Given the description of an element on the screen output the (x, y) to click on. 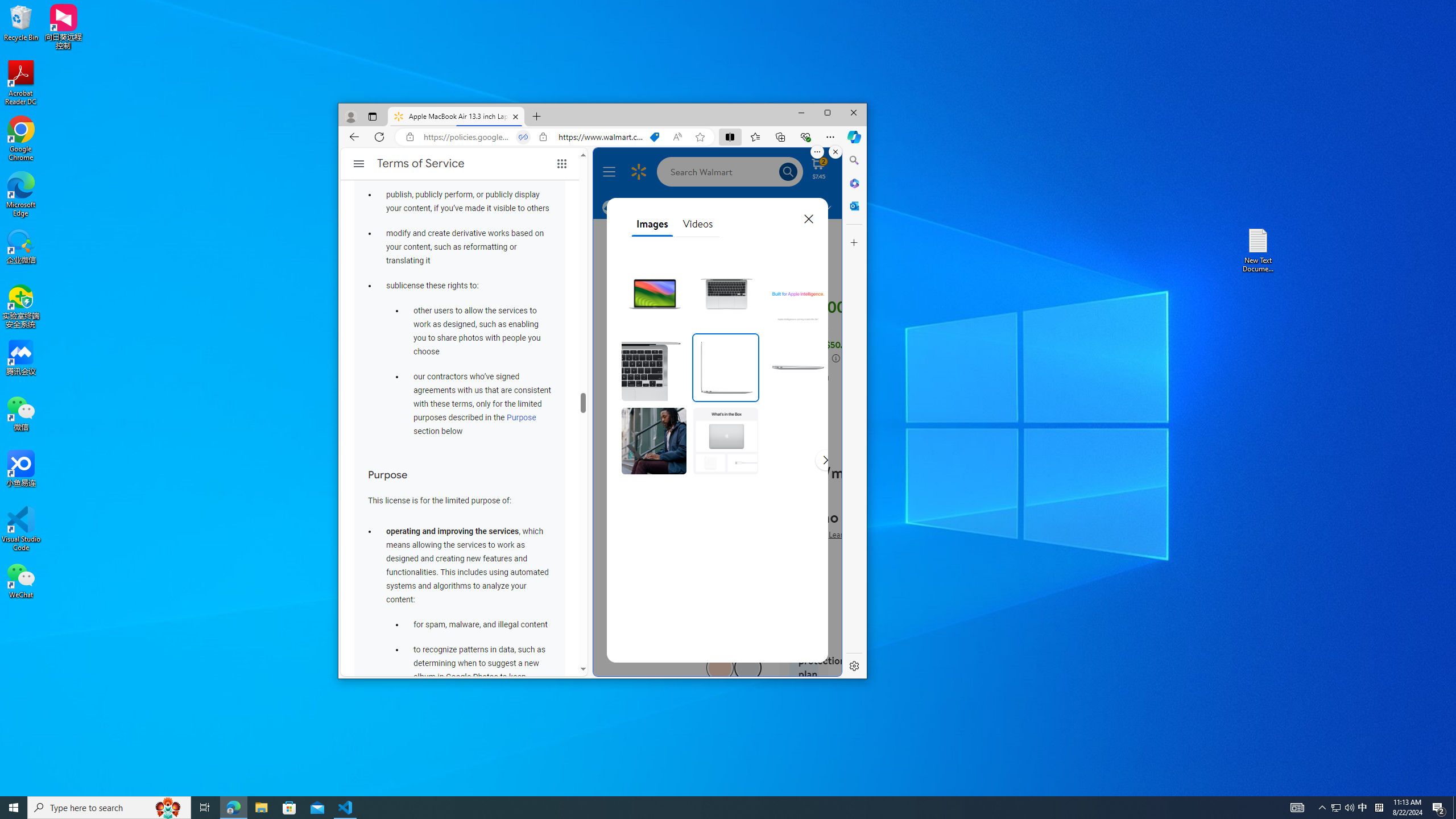
Close split screen. (835, 151)
Recycle Bin (21, 22)
Acrobat Reader DC (21, 82)
Close Search pane (854, 159)
Maximize (826, 112)
More options. (817, 151)
